Given the description of an element on the screen output the (x, y) to click on. 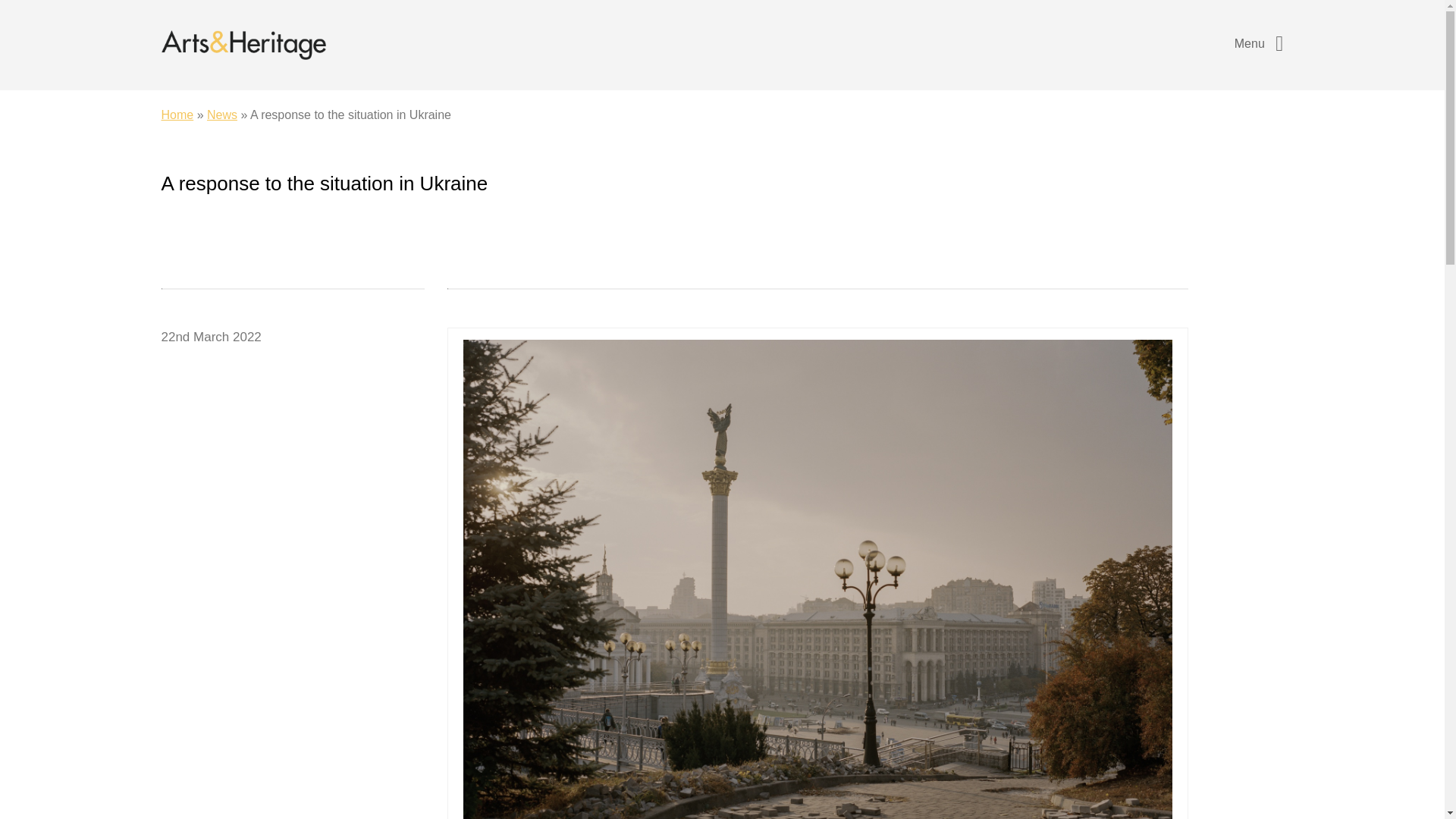
Home (176, 114)
Menu (1259, 40)
News (221, 114)
